Given the description of an element on the screen output the (x, y) to click on. 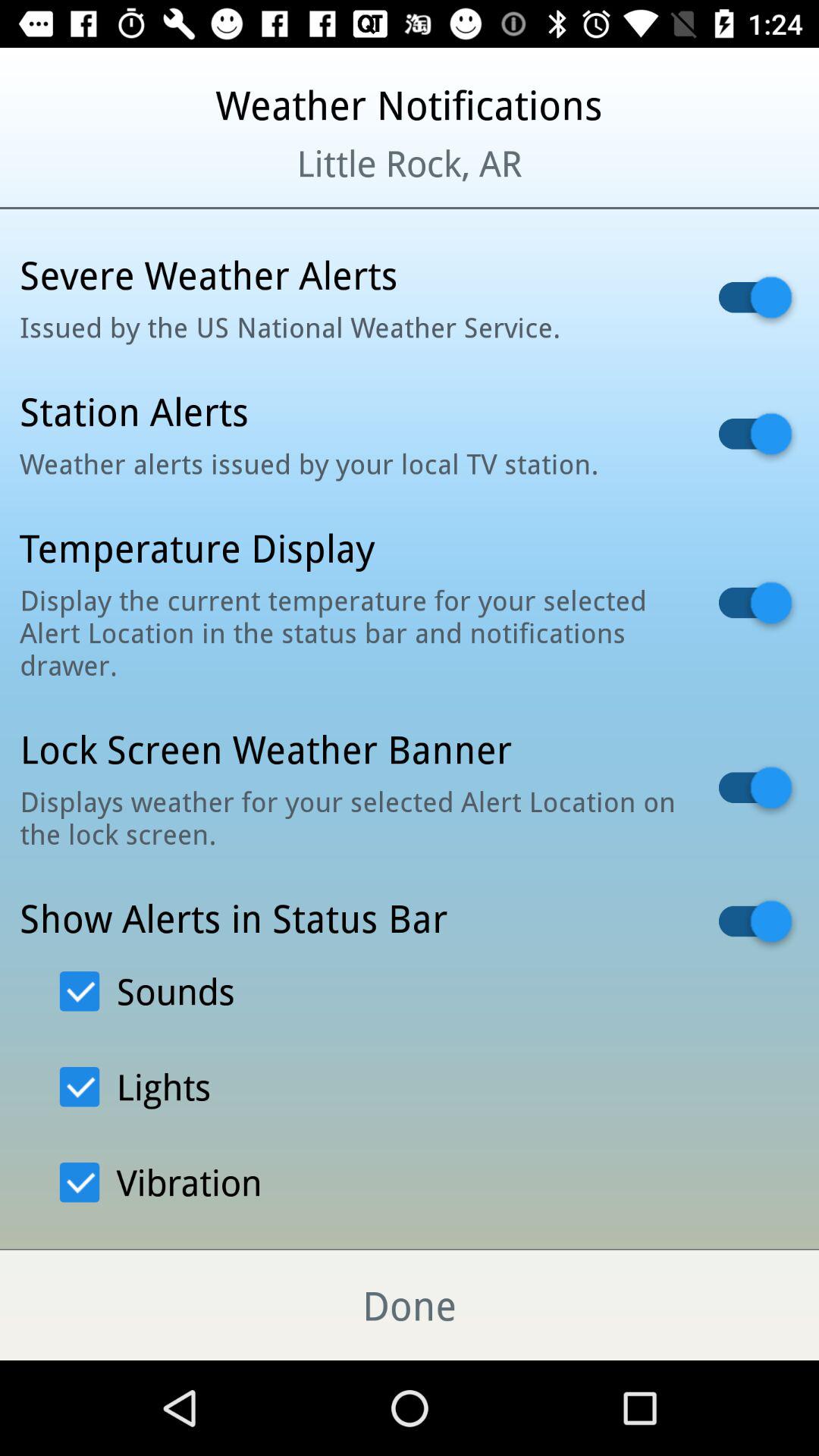
click on the option viberation (160, 1182)
click the check box on left side of text vibration (79, 1181)
select the check box which is on the left side of sounds (147, 991)
